Given the description of an element on the screen output the (x, y) to click on. 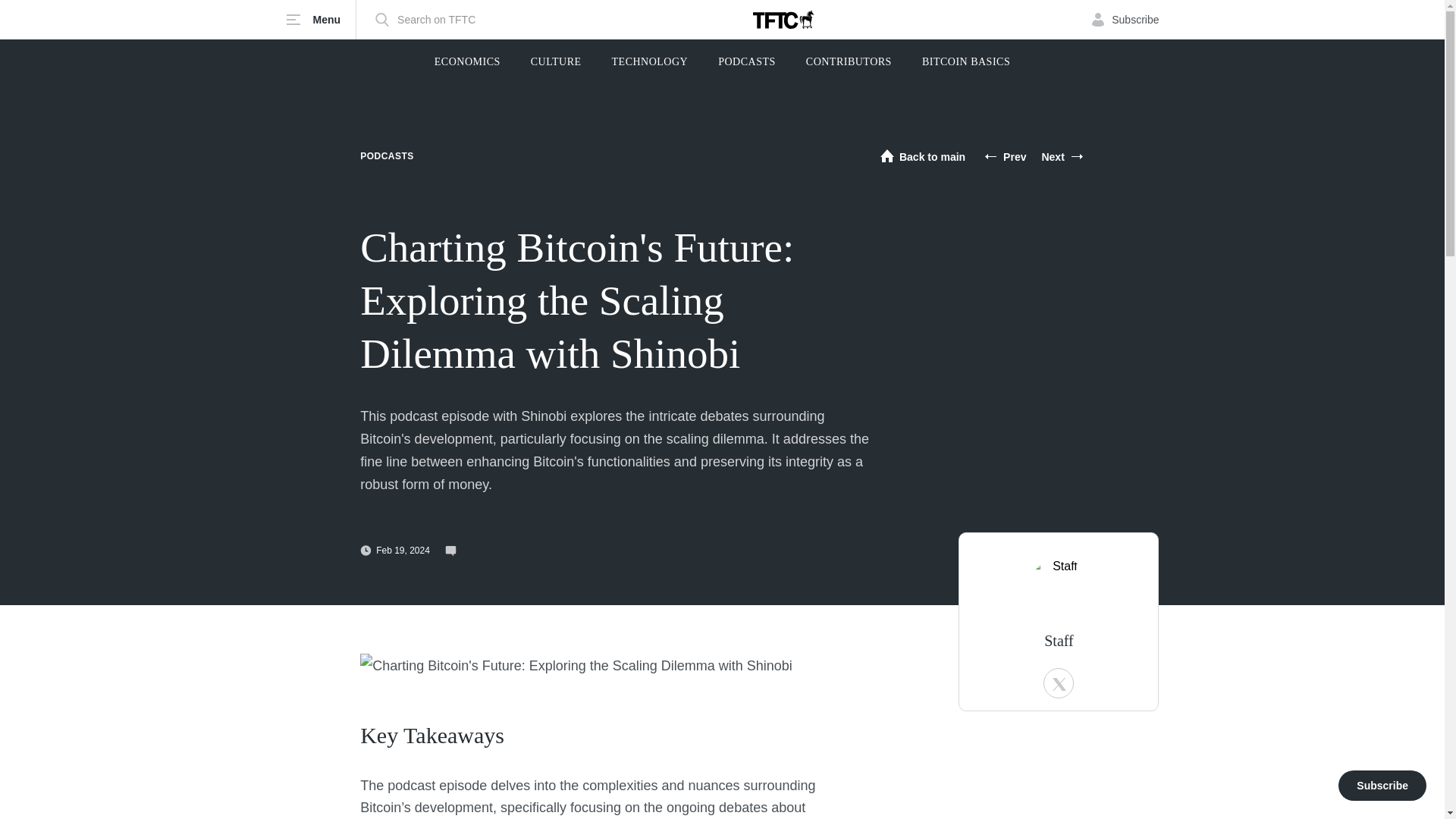
Menu (320, 19)
CULTURE (555, 62)
PODCASTS (386, 155)
Subscribe (1124, 19)
TECHNOLOGY (649, 62)
PODCASTS (746, 62)
ECONOMICS (466, 62)
BITCOIN BASICS (965, 62)
Back to main (922, 156)
Staff (1058, 640)
